Given the description of an element on the screen output the (x, y) to click on. 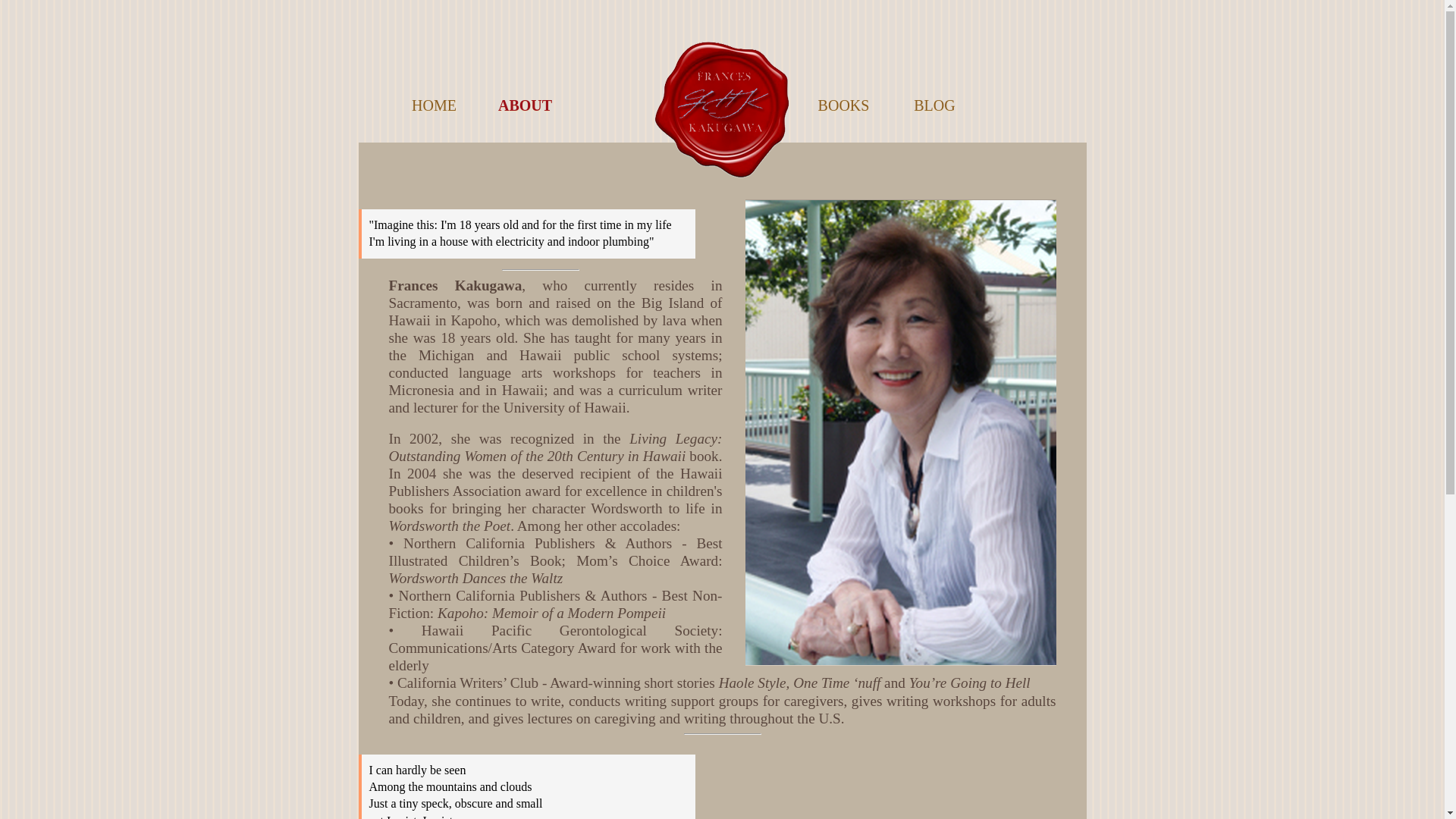
BOOKS (842, 105)
BLOG (934, 105)
HOME (433, 105)
ABOUT (524, 105)
